Given the description of an element on the screen output the (x, y) to click on. 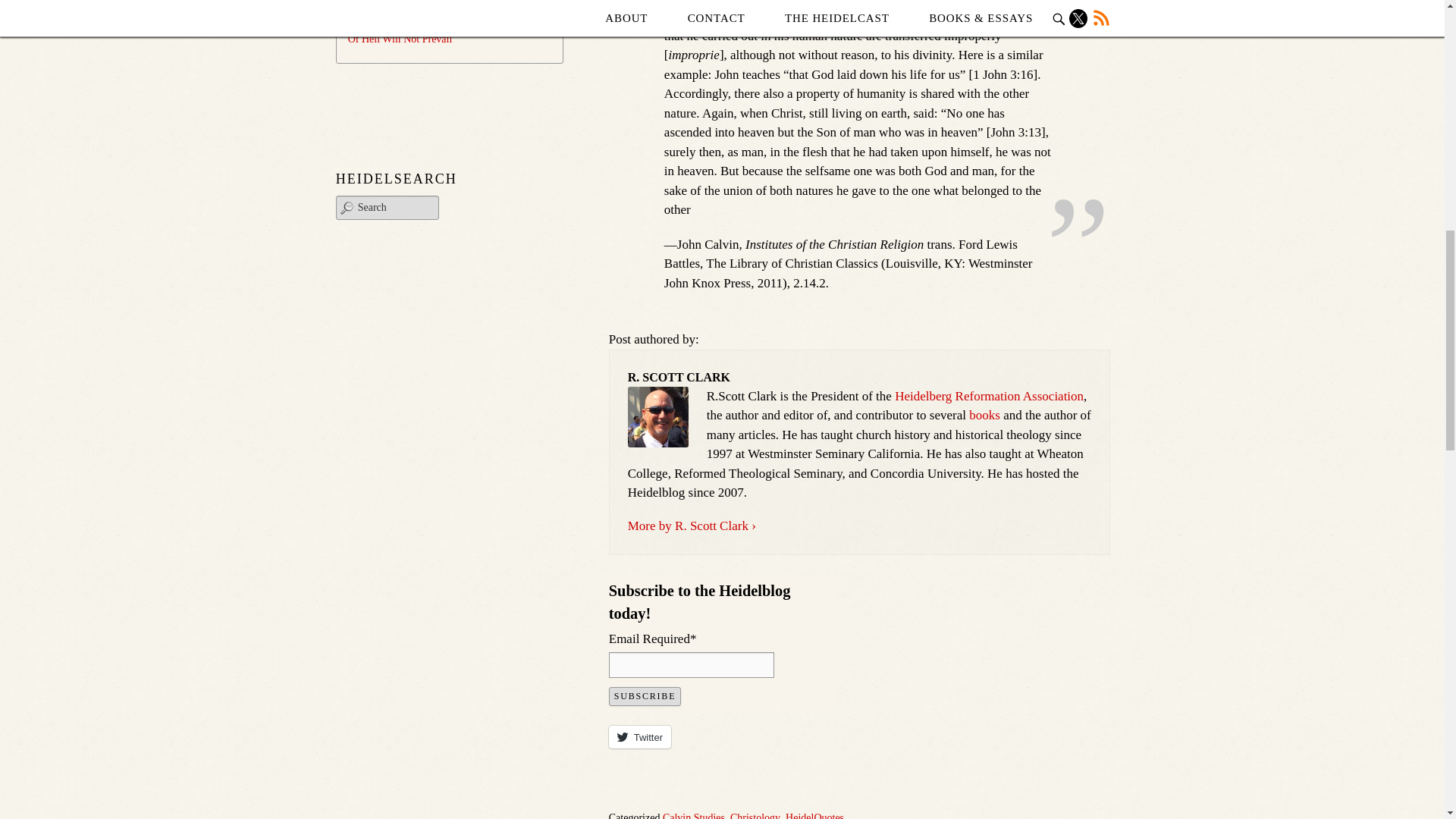
Subscribe (644, 696)
Calvin Studies (693, 815)
Heidelberg Reformation Association (989, 396)
books (984, 414)
Click to share on Twitter (639, 736)
Christology (755, 815)
HeidelQuotes (815, 815)
Twitter (639, 736)
Subscribe (644, 696)
